Given the description of an element on the screen output the (x, y) to click on. 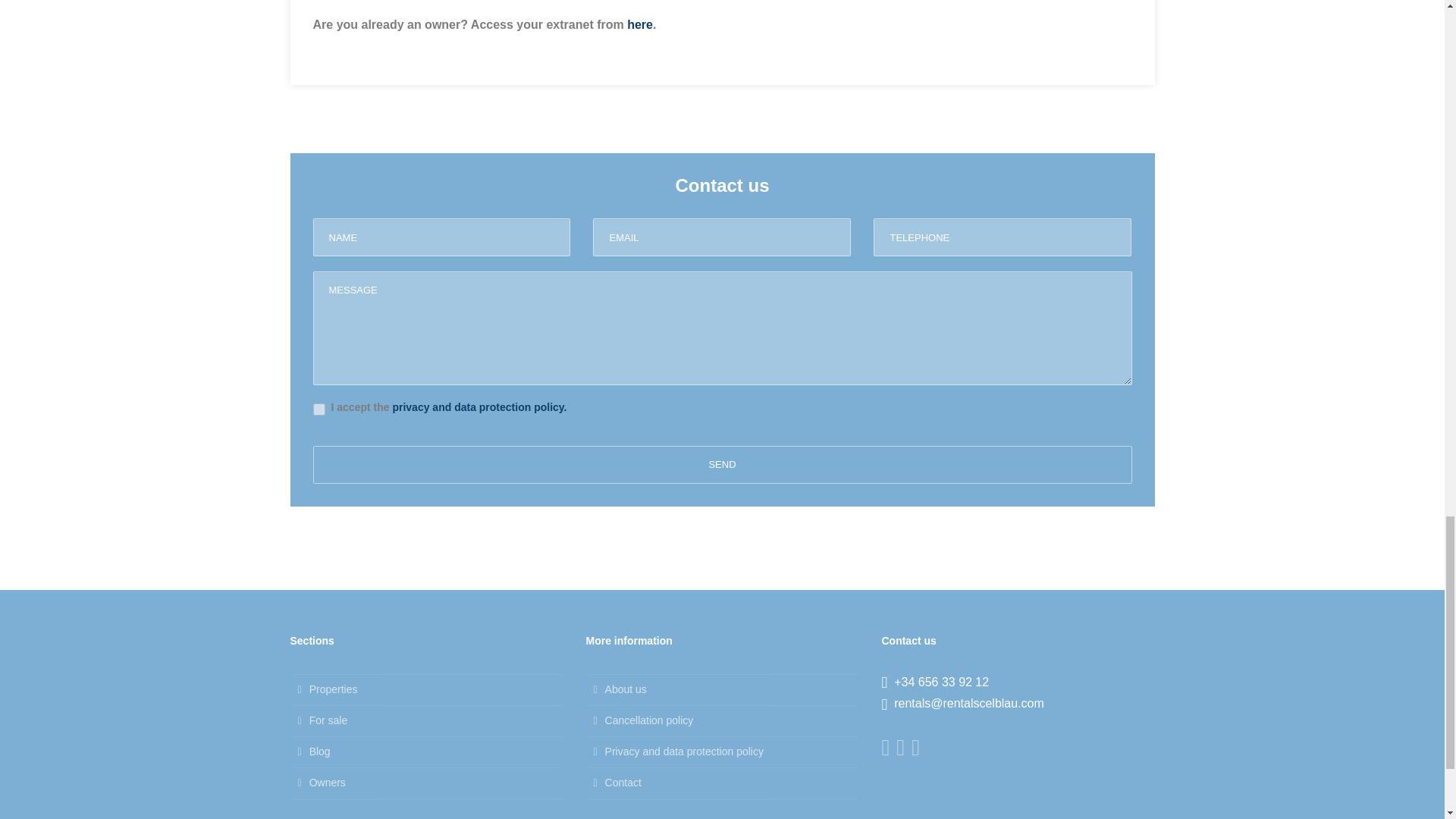
Send (722, 464)
For sale (425, 720)
Properties (425, 689)
privacy and data protection policy. (478, 407)
Contact (722, 783)
here (639, 24)
About us (722, 689)
on (318, 409)
Cancellation policy (722, 720)
Send (722, 464)
Blog (425, 751)
Owners (425, 783)
Privacy and data protection policy (722, 751)
